Given the description of an element on the screen output the (x, y) to click on. 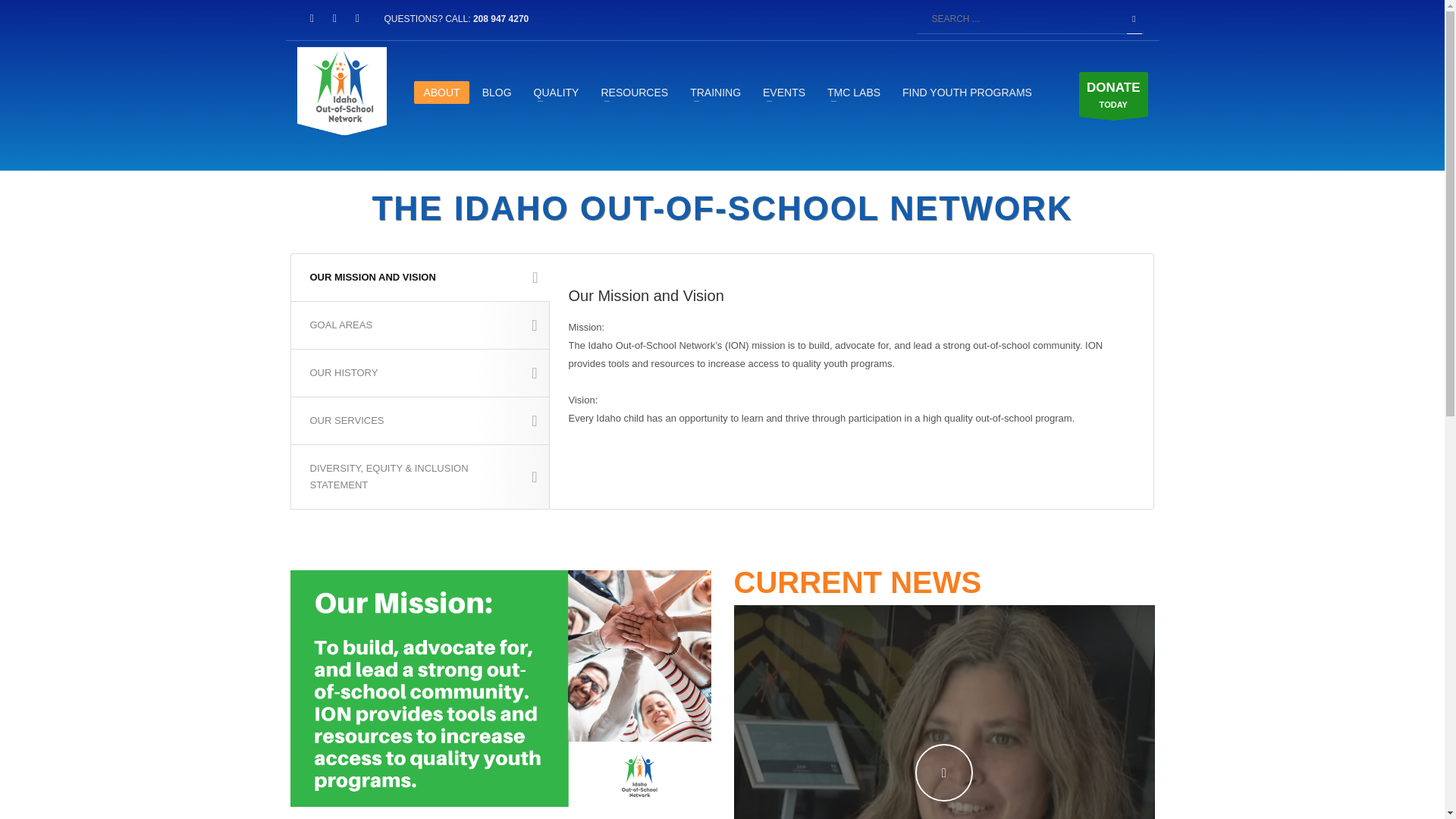
ABOUT (440, 92)
ABOUT ION - Mission Statement (499, 688)
Idaho Out-of-School Network (342, 92)
BLOG (497, 92)
QUALITY (556, 92)
208 947 4270 (500, 18)
Facebook (334, 18)
RESOURCES (634, 92)
Twitter (357, 18)
